Given the description of an element on the screen output the (x, y) to click on. 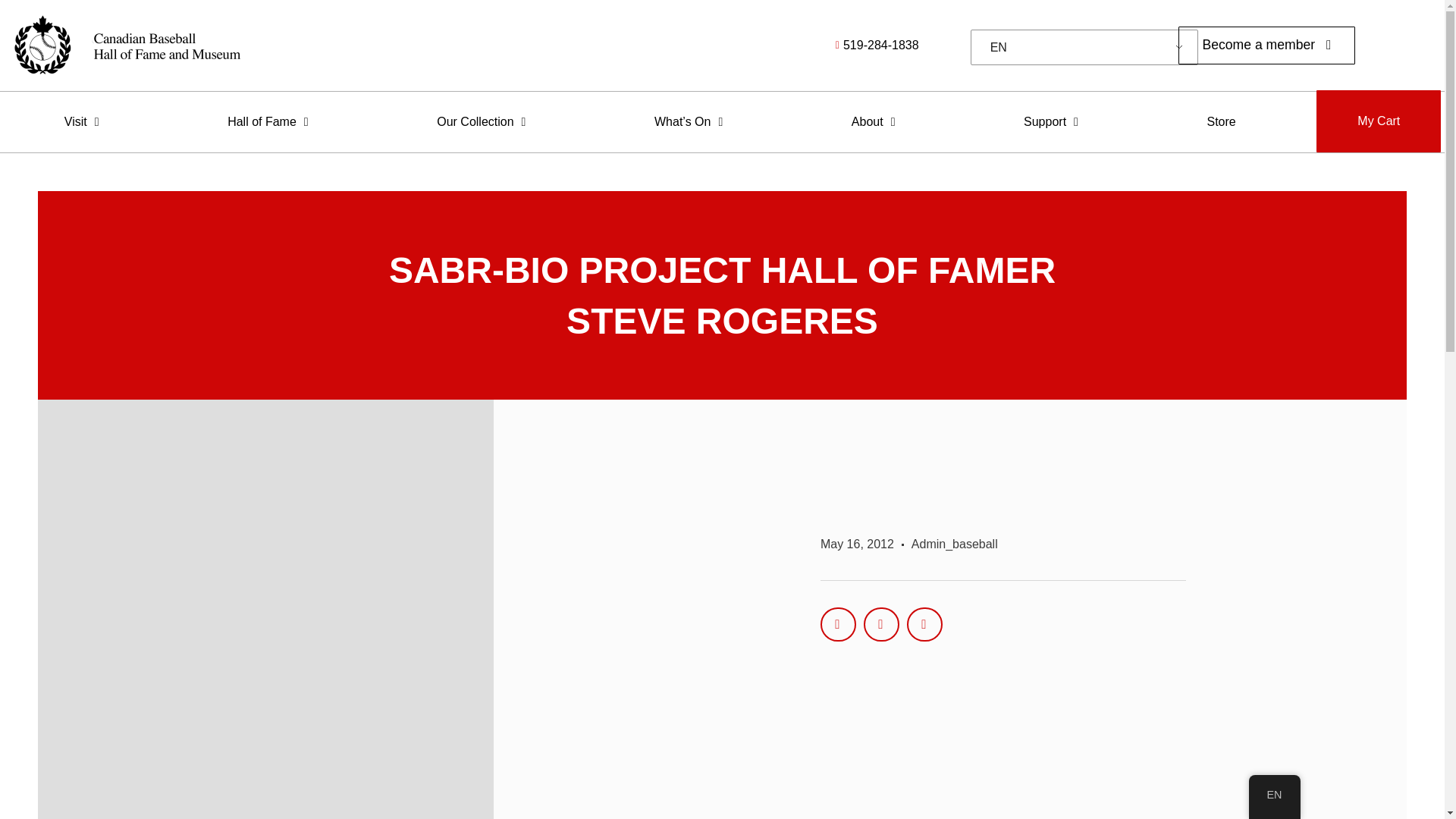
519-284-1838 (783, 45)
English (1081, 47)
EN (1081, 47)
Our Collection (480, 121)
Hall of Fame (267, 121)
cbhfm-logo-in-black-and-white (126, 45)
Become a member (1265, 45)
Visit (81, 121)
